Given the description of an element on the screen output the (x, y) to click on. 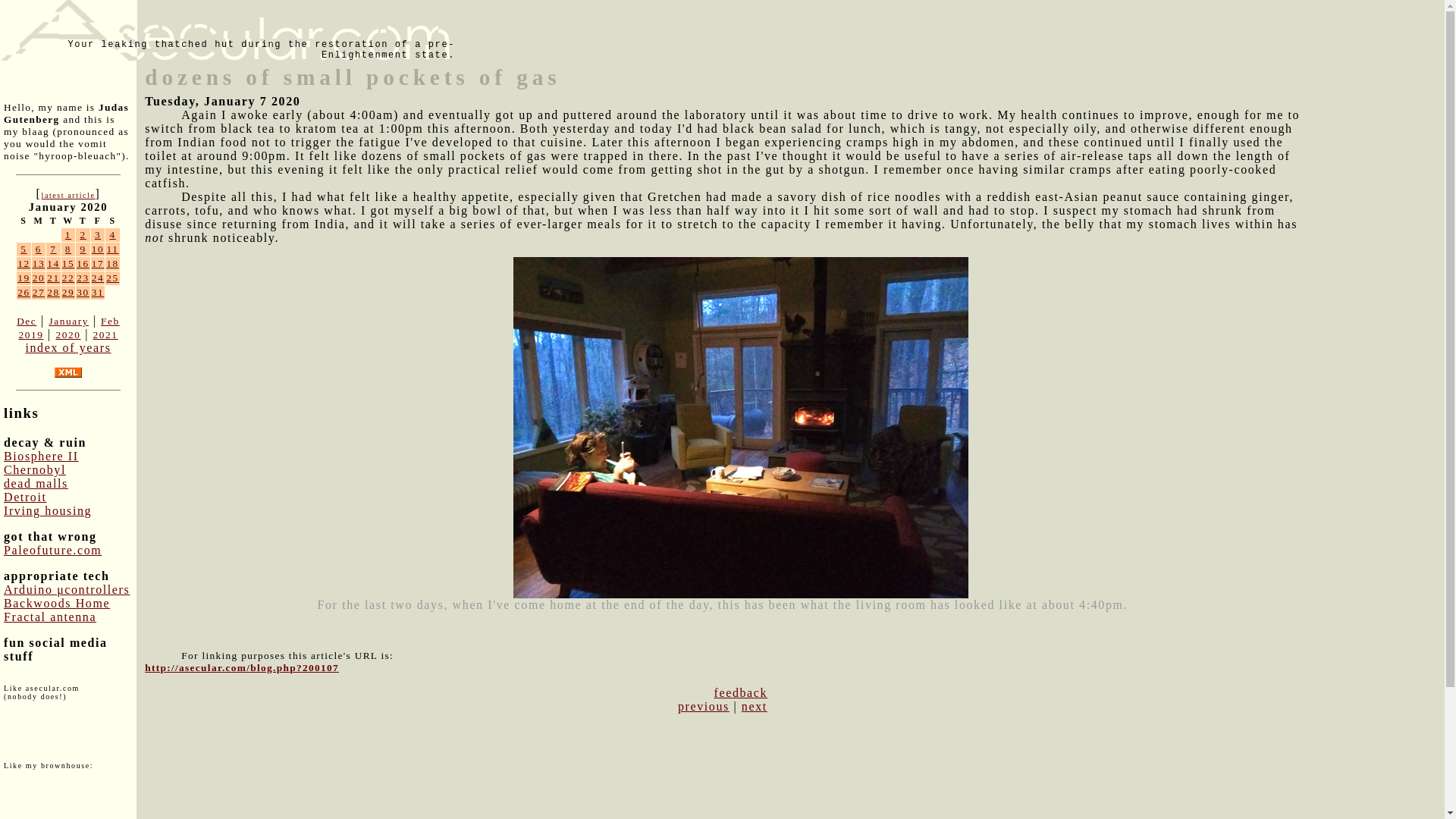
25 (112, 277)
17 (97, 263)
2019 (30, 334)
Dec (26, 320)
23 (82, 277)
20 (38, 277)
29 (68, 292)
14 (52, 263)
10 (97, 248)
30 (82, 292)
